Given the description of an element on the screen output the (x, y) to click on. 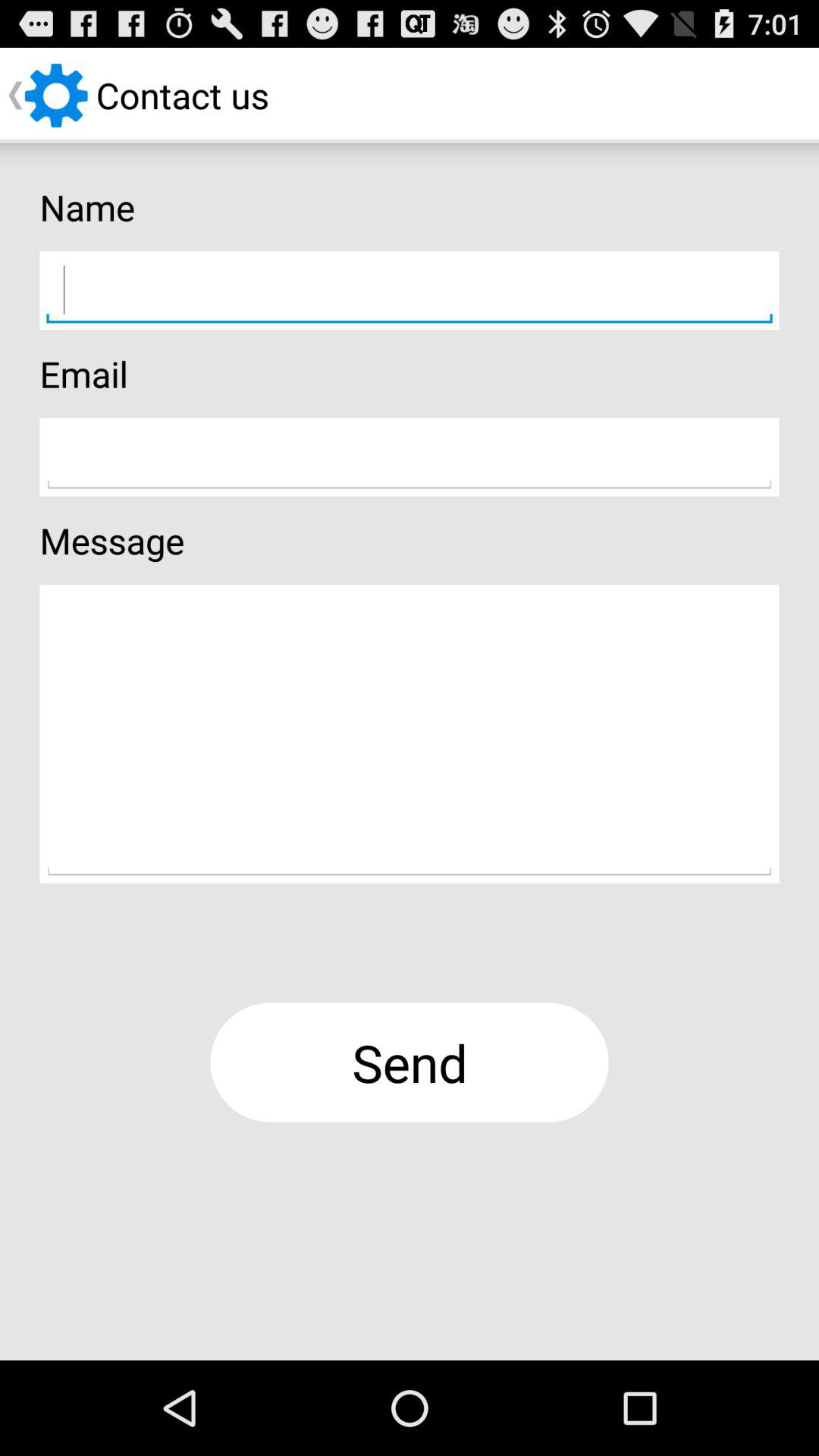
scroll until the send item (409, 1062)
